Given the description of an element on the screen output the (x, y) to click on. 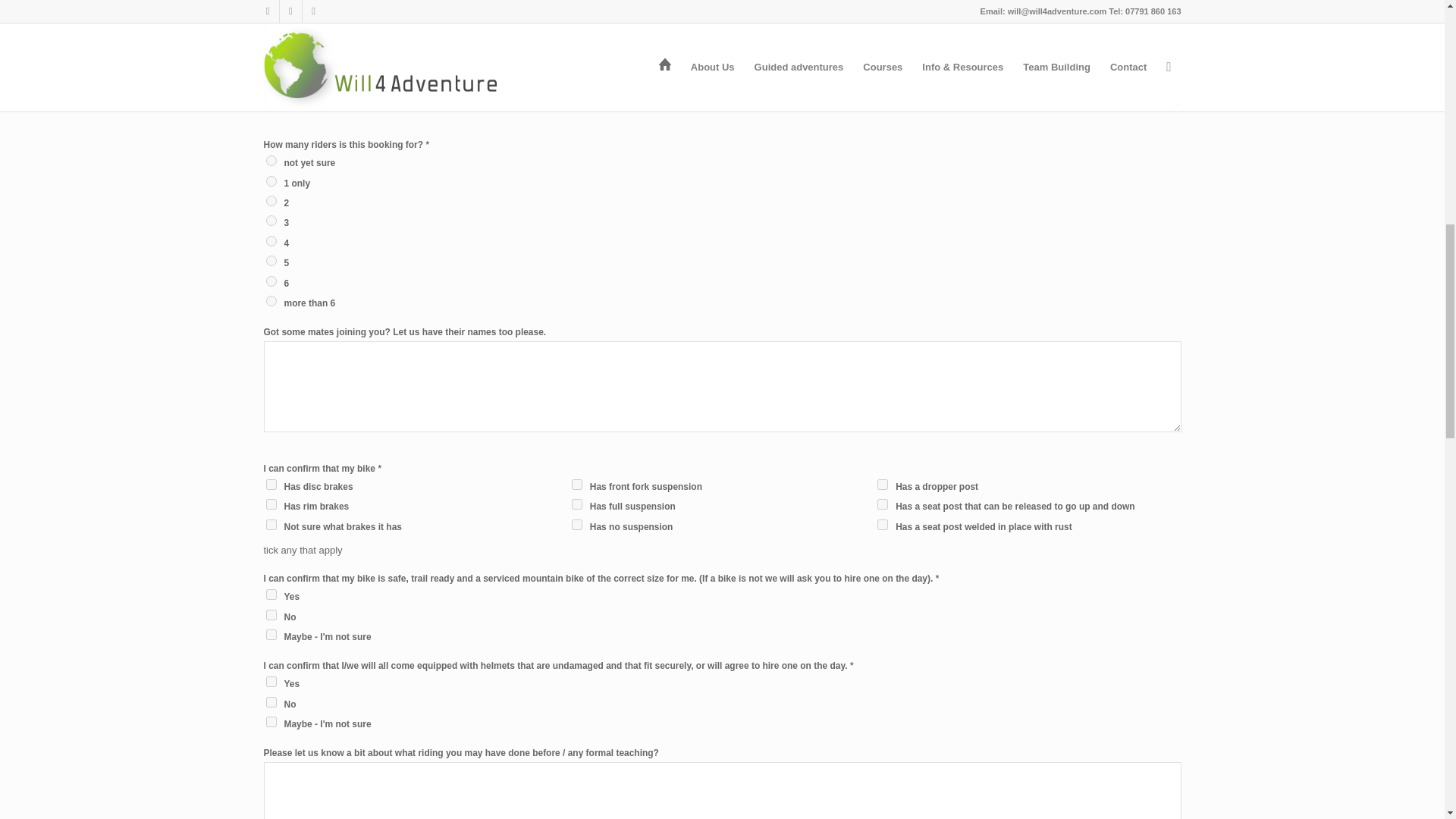
6 (270, 281)
4 (270, 240)
3 (270, 220)
5 (270, 260)
not yet sure (270, 160)
2 (270, 200)
1 only (270, 181)
